Given the description of an element on the screen output the (x, y) to click on. 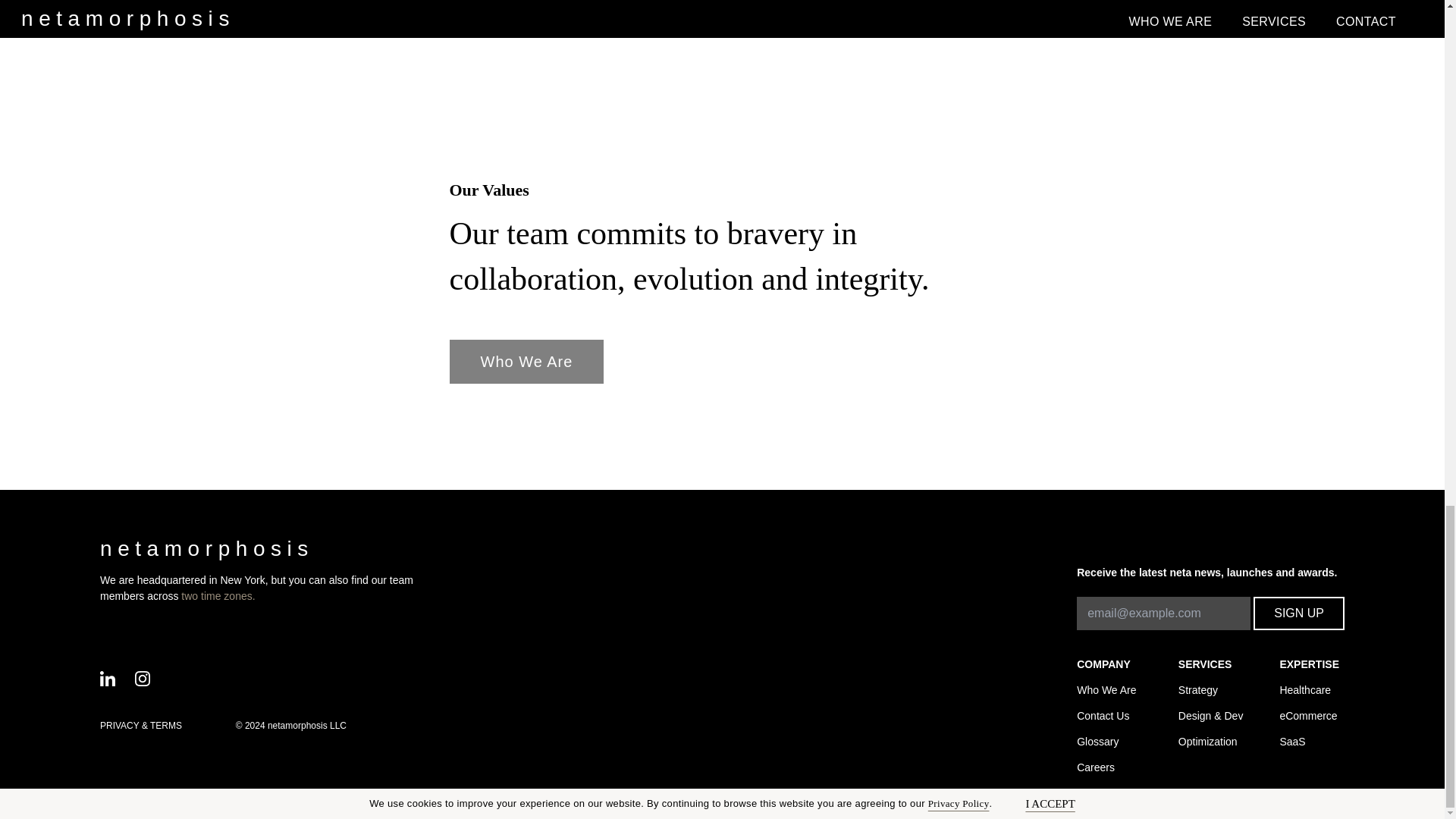
Who We Are (526, 361)
Glossary (1109, 740)
Strategy (1210, 688)
Healthcare (1311, 688)
Optimization (1210, 740)
SaaS (1311, 740)
Who We Are (526, 362)
Contact Us (1109, 714)
Who We Are (1109, 688)
eCommerce (1311, 714)
